Given the description of an element on the screen output the (x, y) to click on. 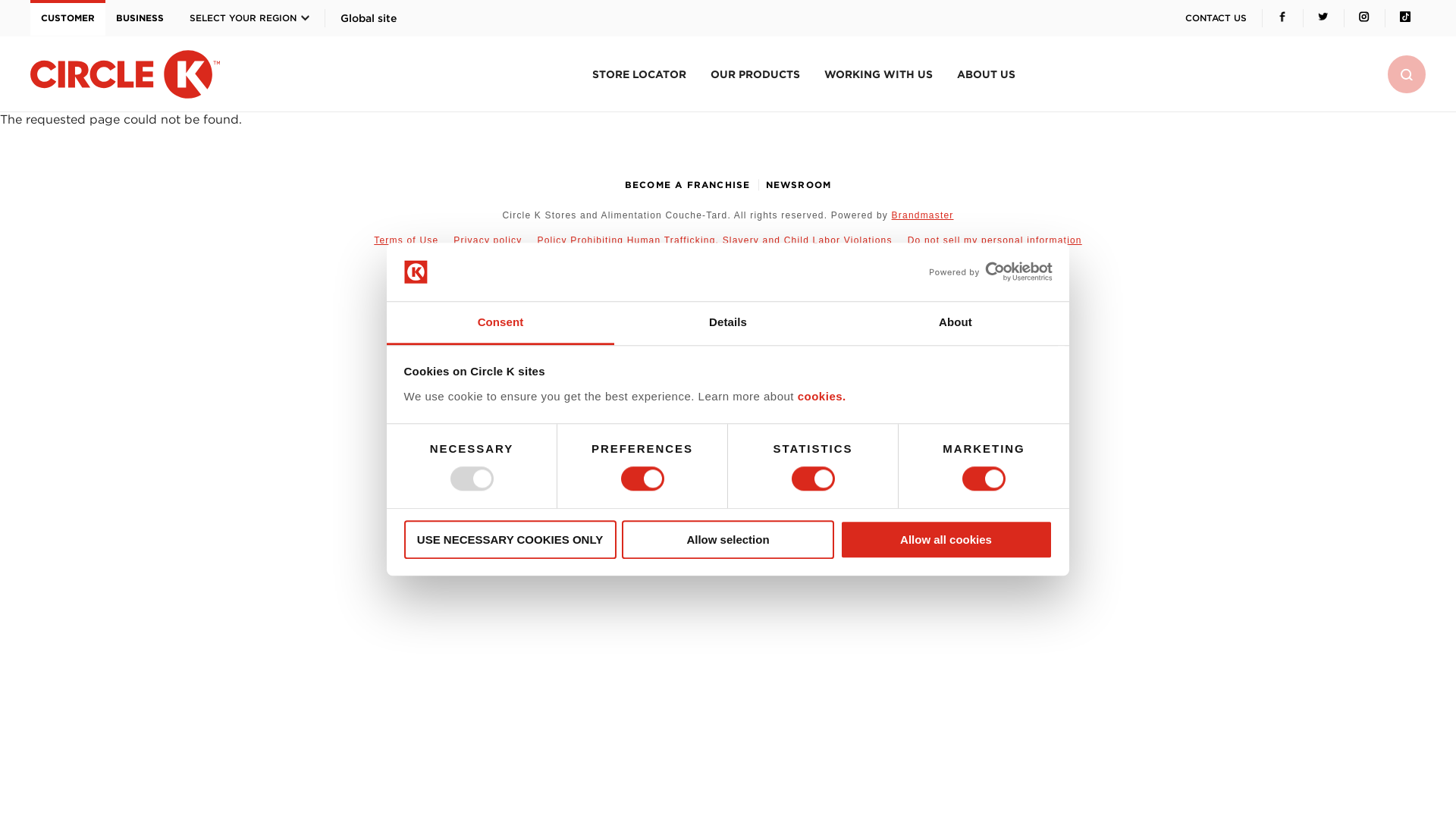
Details (727, 323)
About (954, 323)
cookies. (821, 395)
Consent (500, 323)
